Given the description of an element on the screen output the (x, y) to click on. 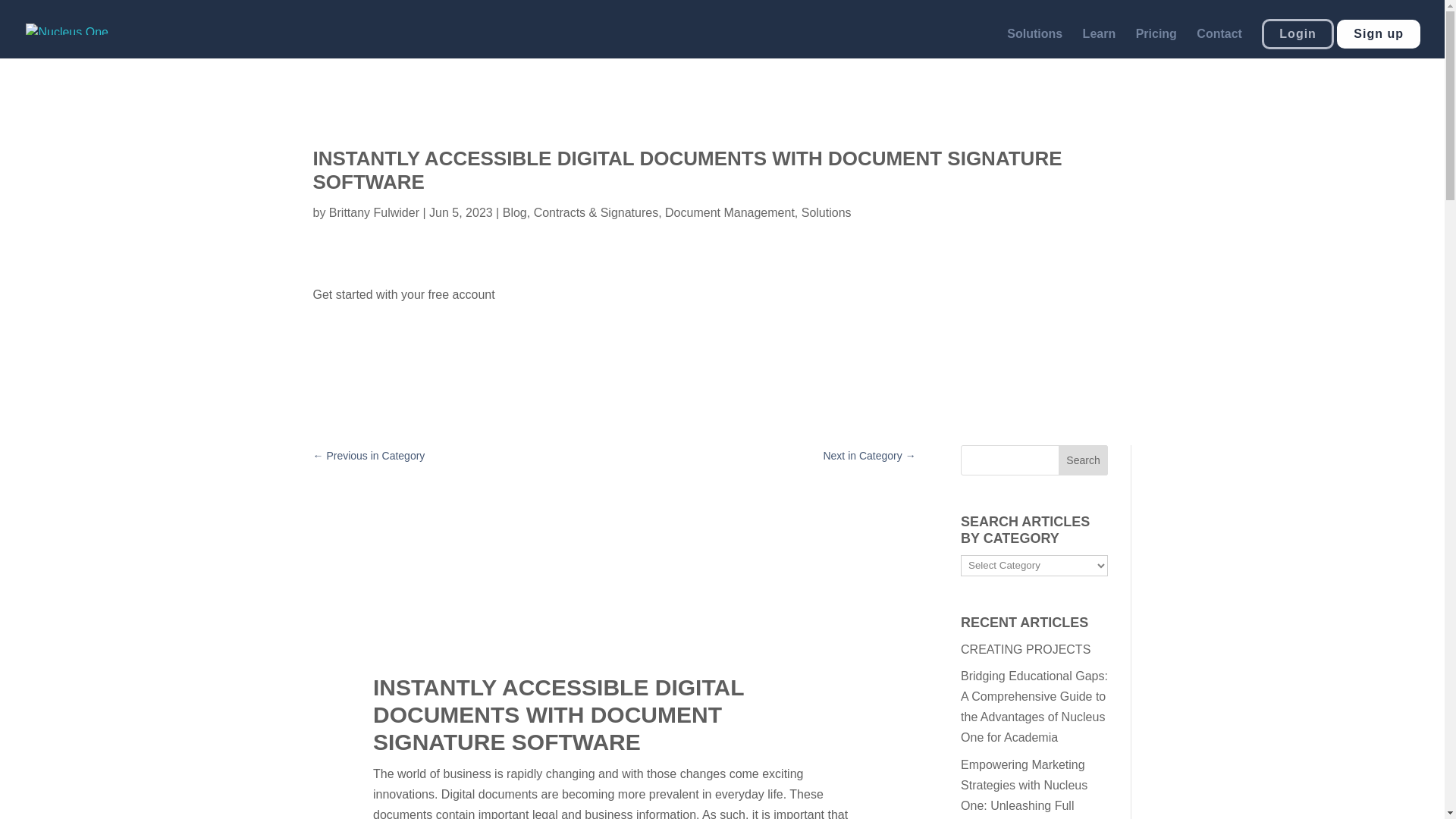
Learn (1099, 43)
Pricing (1155, 43)
Solutions (1034, 43)
Posts by Brittany Fulwider (374, 212)
Contact (1218, 43)
Login (1297, 33)
Search (1083, 460)
